Given the description of an element on the screen output the (x, y) to click on. 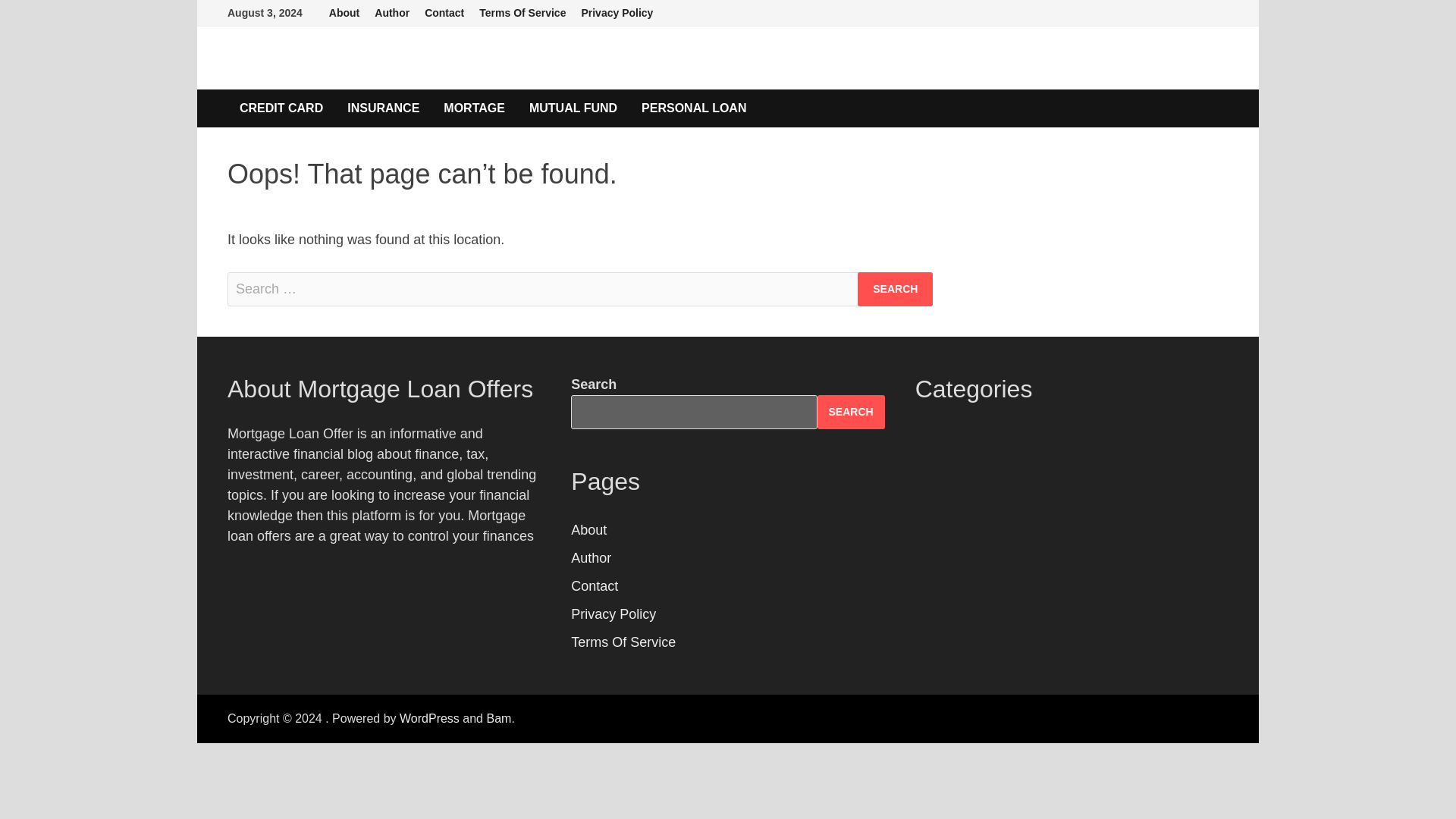
MORTAGE (473, 108)
Search (895, 288)
Search (895, 288)
WordPress (429, 717)
Author (391, 13)
Privacy Policy (613, 613)
MUTUAL FUND (572, 108)
INSURANCE (382, 108)
About (343, 13)
Terms Of Service (522, 13)
Author (590, 557)
SEARCH (850, 411)
Contact (443, 13)
Privacy Policy (617, 13)
About (588, 529)
